Given the description of an element on the screen output the (x, y) to click on. 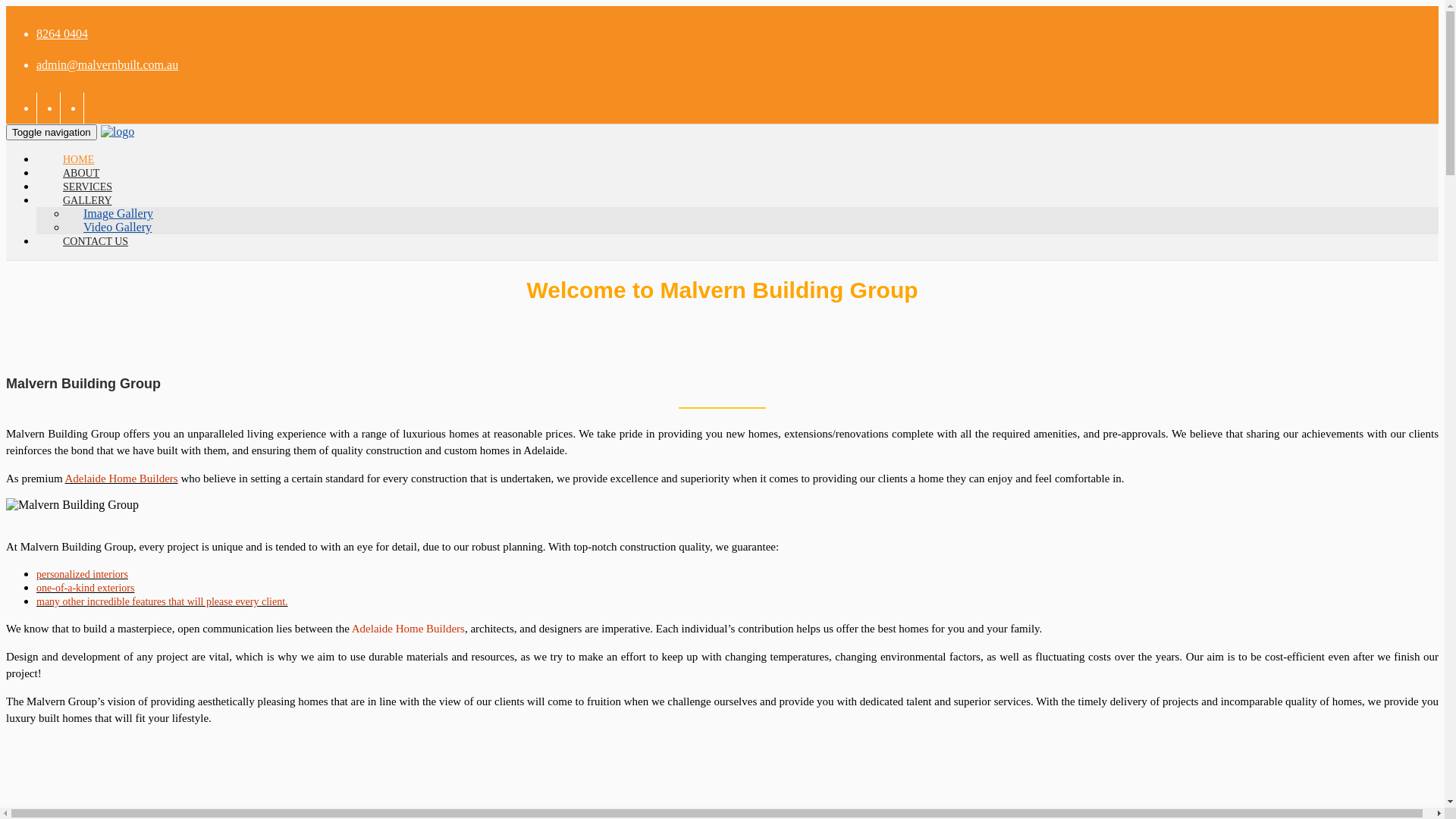
Image Gallery Element type: text (117, 212)
Video Gallery Element type: text (117, 226)
HOME Element type: text (78, 159)
Home Builders Adelaide Element type: hover (72, 504)
logo Element type: hover (117, 131)
ABOUT Element type: text (80, 173)
Toggle navigation Element type: text (51, 132)
CONTACT US Element type: text (87, 241)
SERVICES Element type: text (87, 186)
8264 0404 Element type: text (61, 33)
GALLERY Element type: text (87, 200)
admin@malvernbuilt.com.au Element type: text (107, 64)
